Given the description of an element on the screen output the (x, y) to click on. 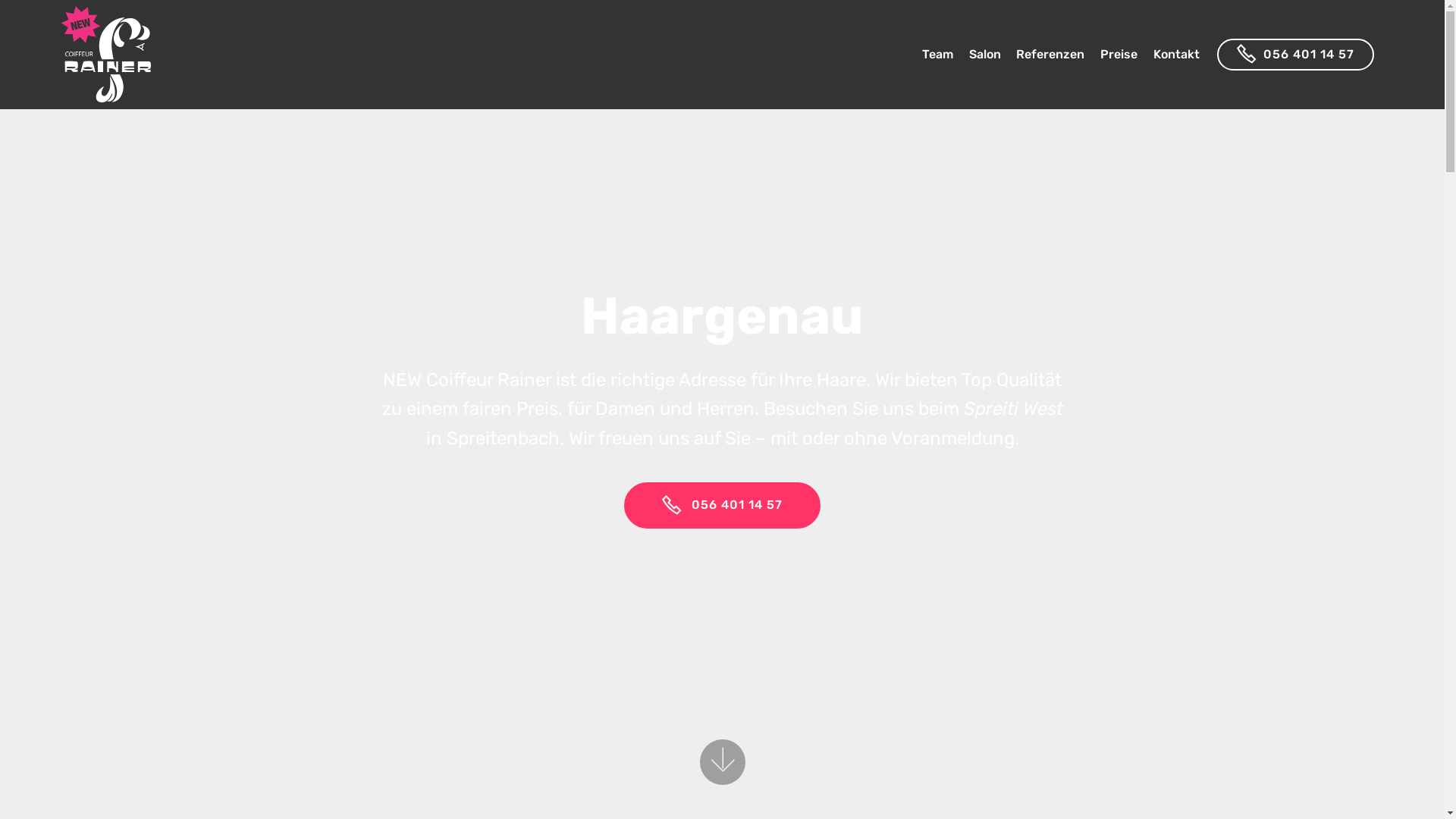
056 401 14 57 Element type: text (1295, 54)
056 401 14 57 Element type: text (722, 505)
Team Element type: text (937, 54)
Kontakt Element type: text (1176, 54)
Referenzen Element type: text (1050, 54)
Salon Element type: text (985, 54)
Preise Element type: text (1118, 54)
